Given the description of an element on the screen output the (x, y) to click on. 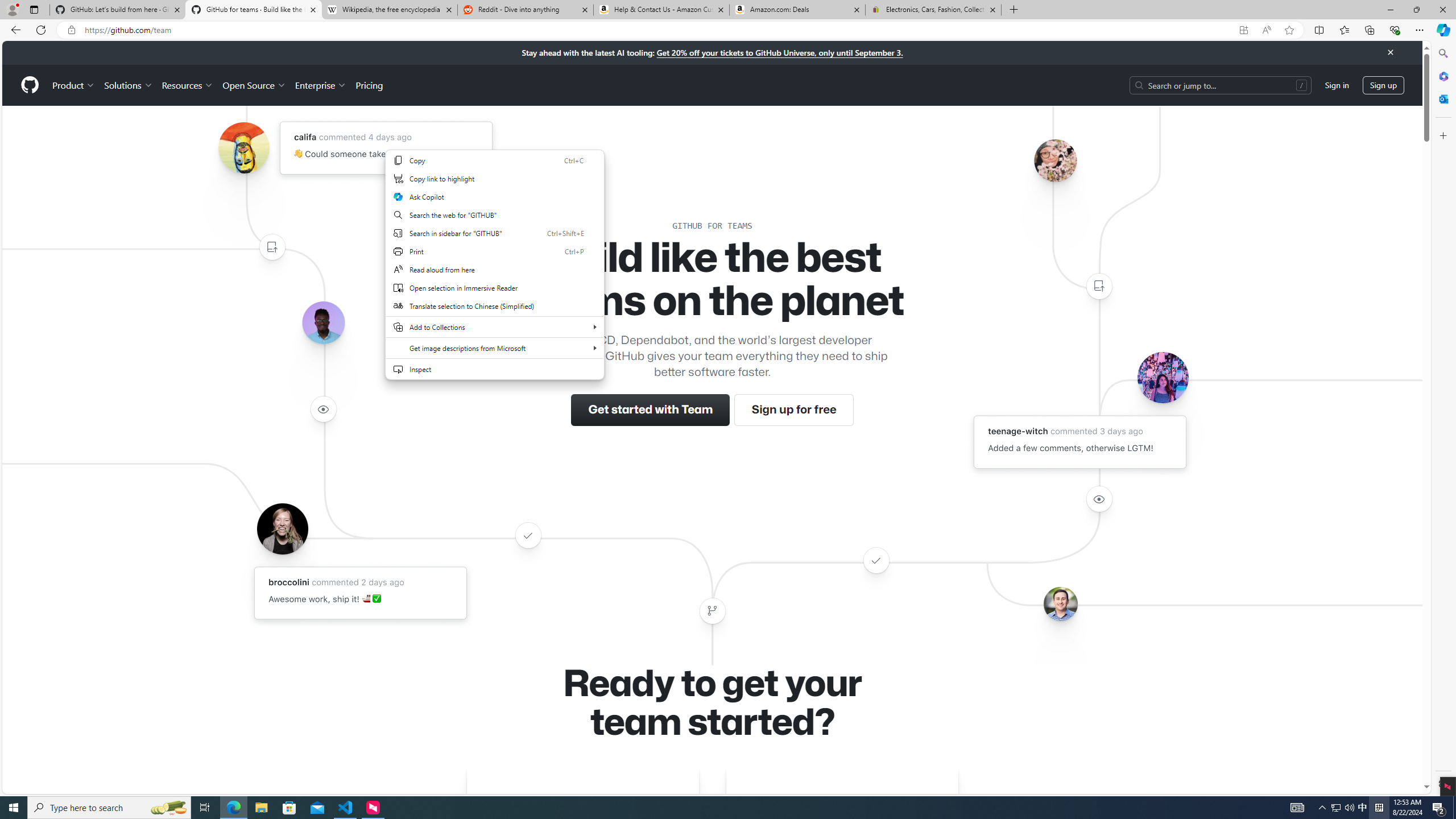
Web context (494, 271)
Copy (494, 160)
Avatar of the user lerebear (323, 322)
Resources (187, 84)
Avatar of the user teenage-witch (1162, 376)
Add to Collections (494, 326)
Avatar of the user ohjoycelau (1054, 159)
Enterprise (319, 84)
Enterprise (319, 84)
Solutions (128, 84)
